Given the description of an element on the screen output the (x, y) to click on. 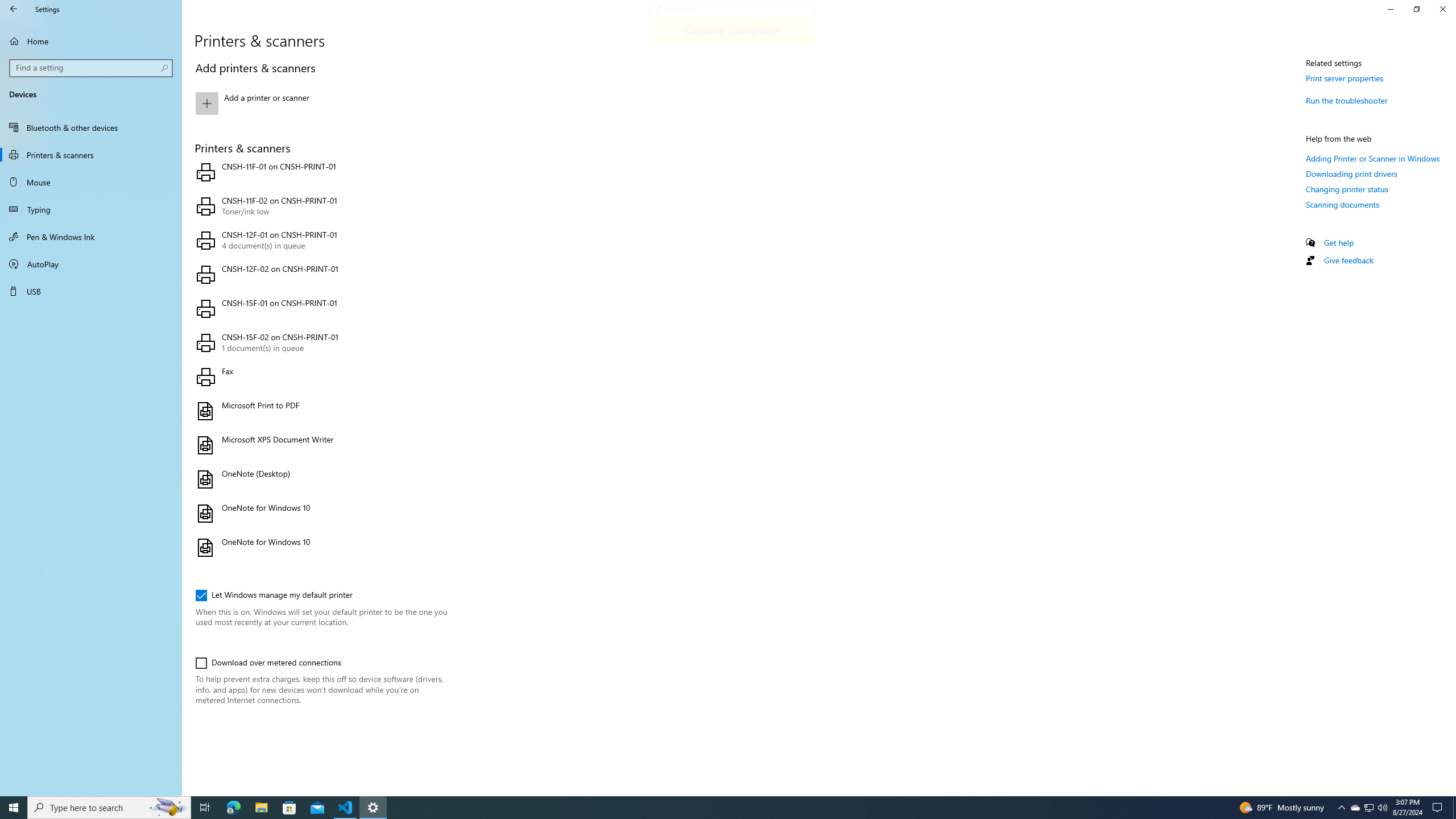
CNSH-11F-02 on CNSH-PRINT-01 Toner/ink low (319, 206)
CNSH-12F-01 on CNSH-PRINT-01 4 document(s) in queue (319, 240)
Printers & scanners (91, 154)
Downloading print drivers (1351, 173)
CNSH-15F-02 on CNSH-PRINT-01 1 document(s) in queue (319, 342)
OneNote for Windows 10 (319, 547)
Adding Printer or Scanner in Windows (1372, 158)
Microsoft Print to PDF (319, 410)
CNSH-11F-01 on CNSH-PRINT-01 (319, 172)
